Given the description of an element on the screen output the (x, y) to click on. 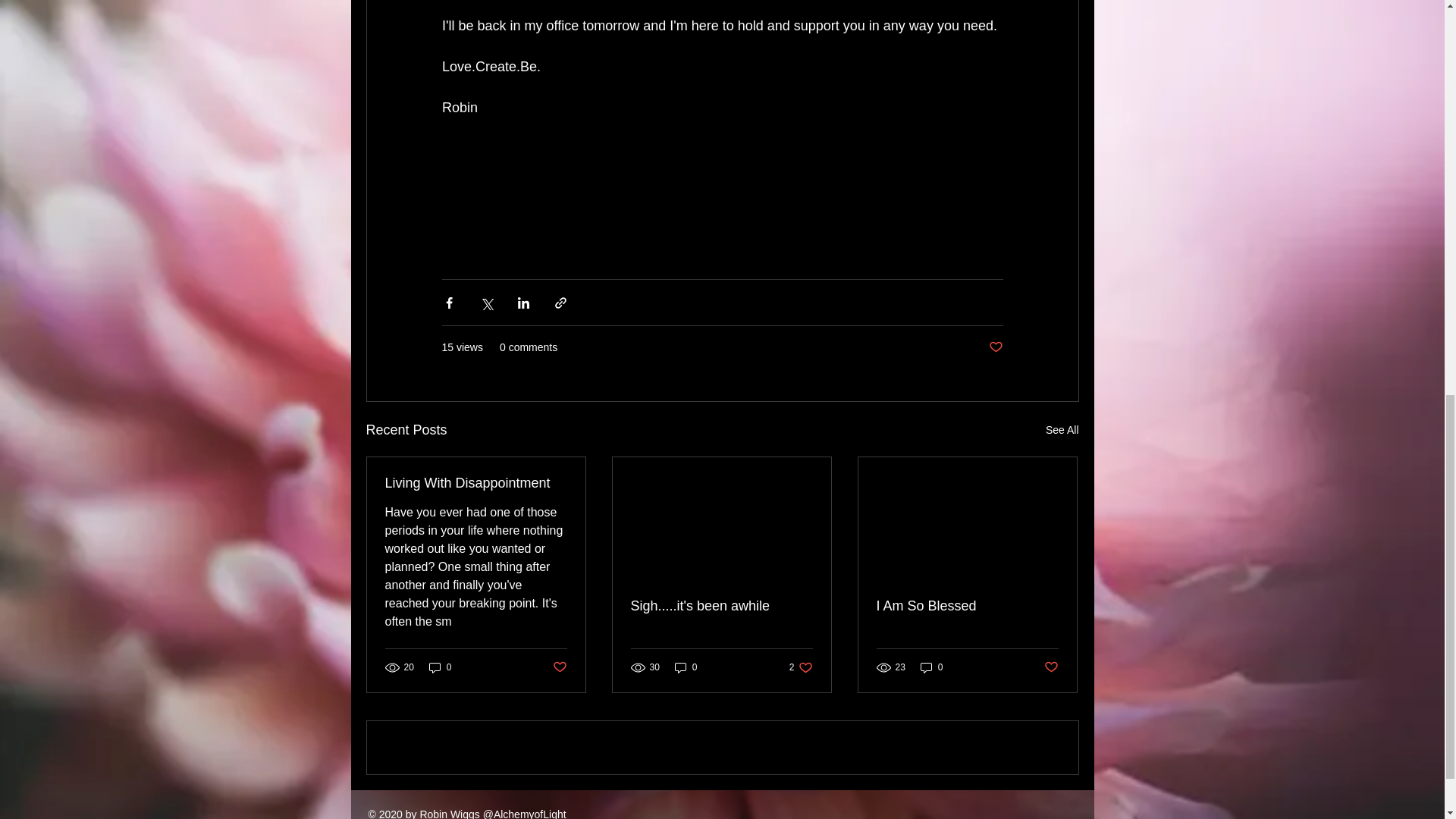
0 (685, 667)
Sigh.....it's been awhile (721, 606)
See All (1061, 430)
0 (440, 667)
0 (931, 667)
Post not marked as liked (800, 667)
I Am So Blessed (995, 347)
Post not marked as liked (967, 606)
Living With Disappointment (558, 667)
Post not marked as liked (476, 483)
